Given the description of an element on the screen output the (x, y) to click on. 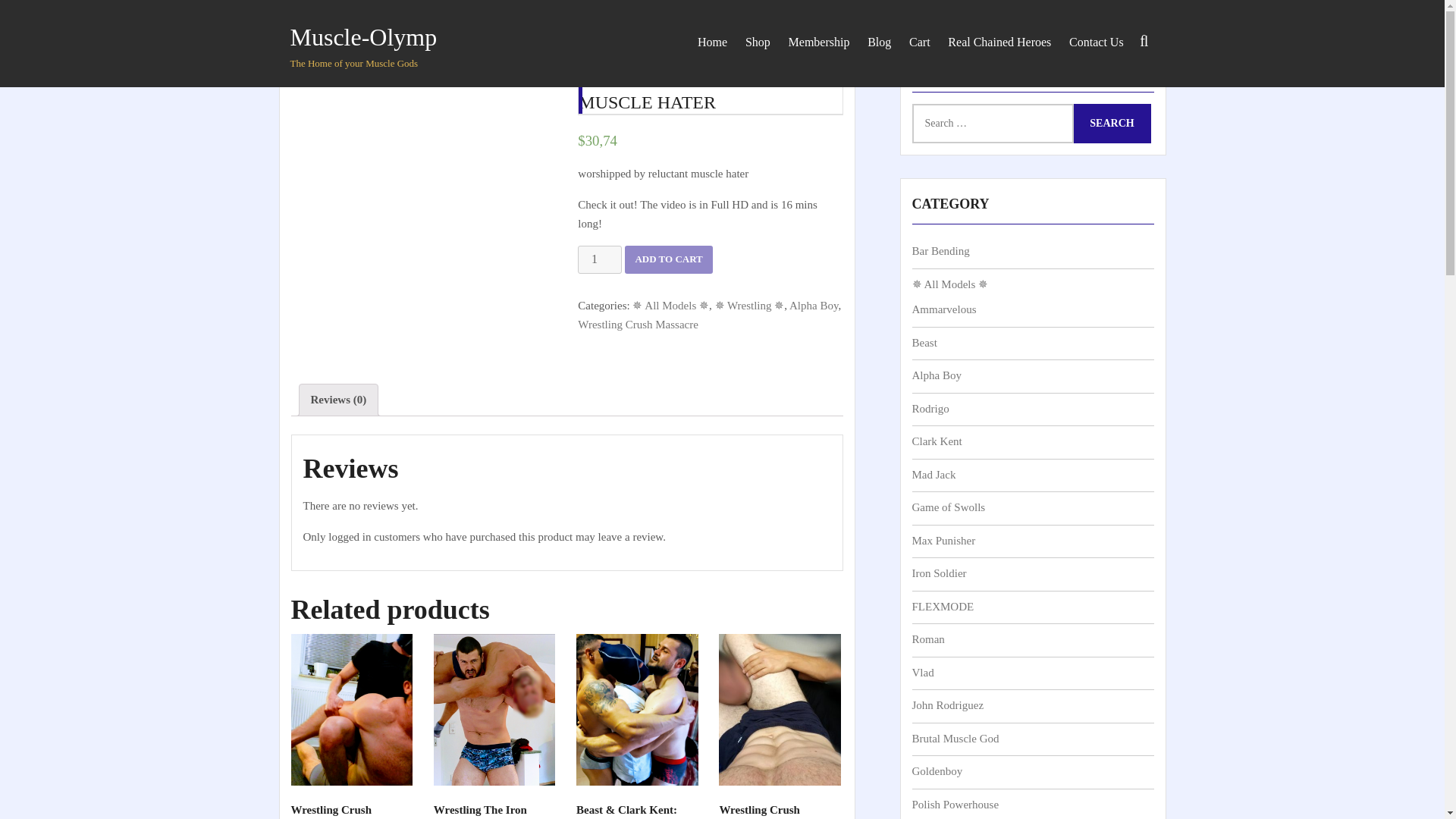
Qty (599, 259)
Blog (879, 41)
Muscle-Olymp (362, 36)
Search (1088, 96)
Contact Us (1096, 41)
Home (310, 17)
Home (712, 41)
1 (599, 259)
Products (368, 17)
Membership (818, 41)
